Given the description of an element on the screen output the (x, y) to click on. 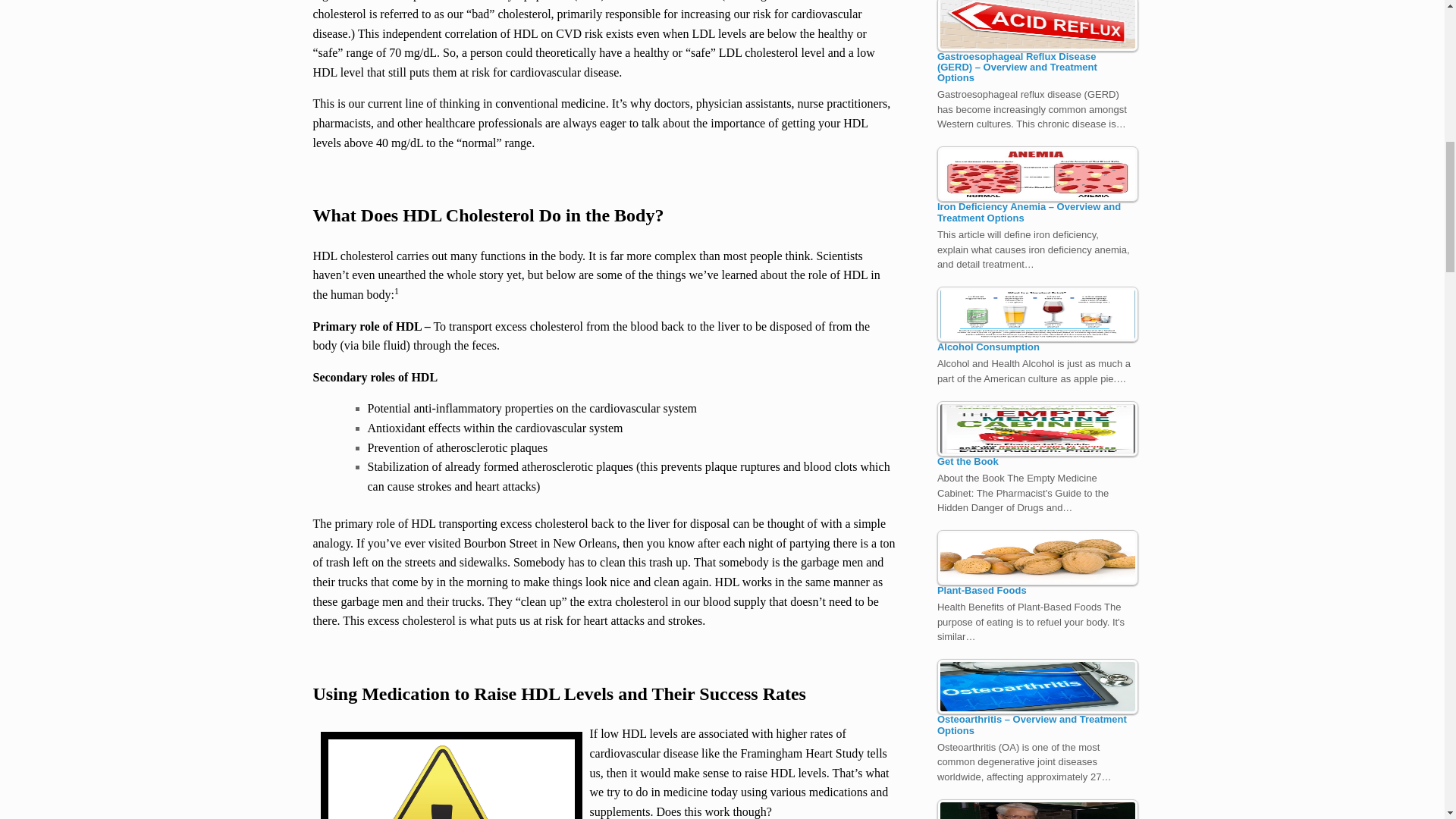
Alcohol Consumption (1037, 314)
Plant-Based Foods (1037, 557)
Reversing My Heart Disease With Dr. Caldwell Esselstyn, Jr. (1037, 809)
Get the Book (1037, 428)
